Given the description of an element on the screen output the (x, y) to click on. 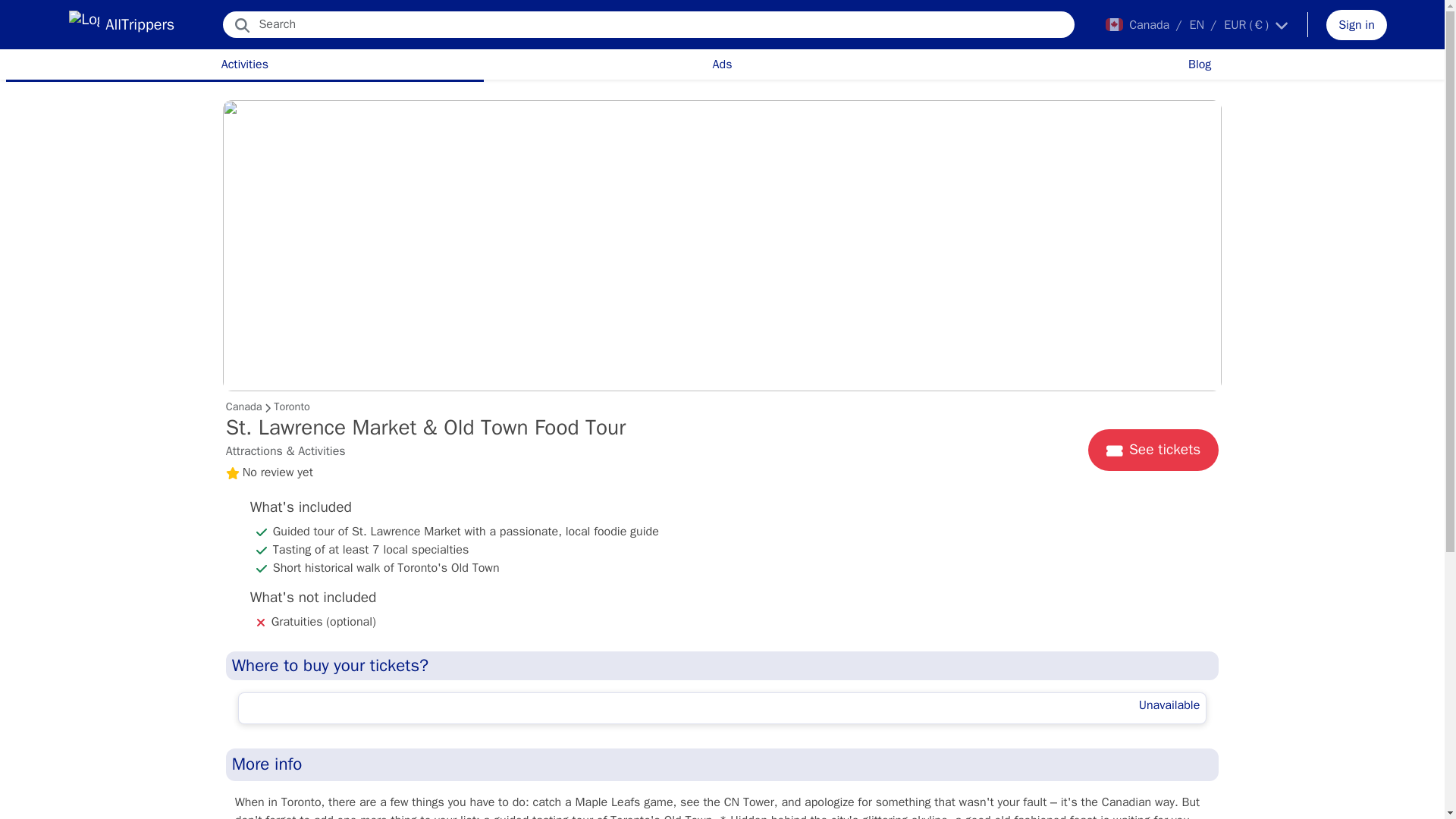
sign in (1356, 24)
Blog (1199, 64)
Activities (244, 64)
Unavailable (722, 707)
Ads (722, 64)
Toronto (290, 406)
Canada (243, 406)
